Given the description of an element on the screen output the (x, y) to click on. 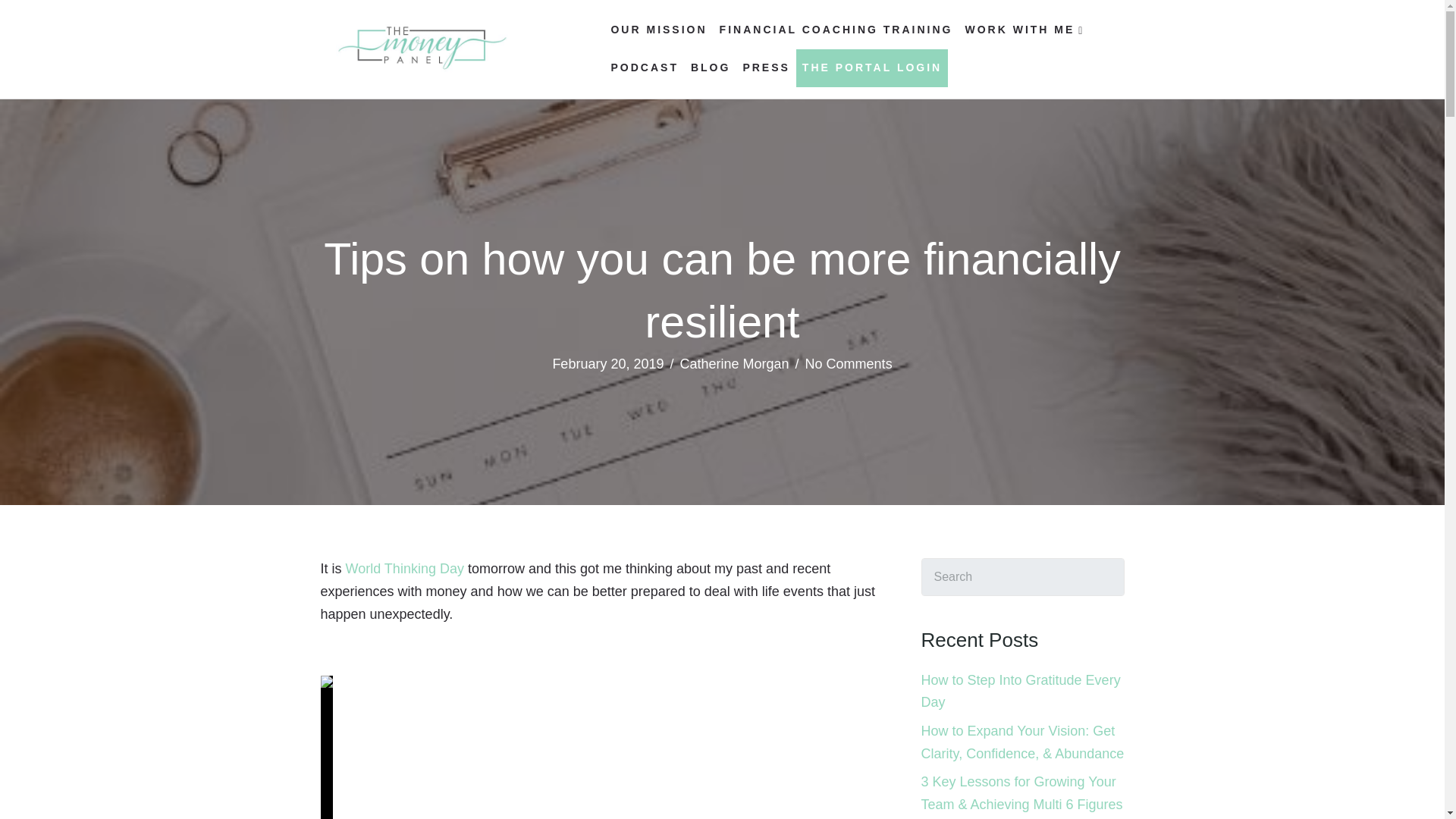
PODCAST (644, 67)
Catherine Morgan (734, 363)
BLOG (710, 67)
WORK WITH ME (1024, 30)
THE PORTAL LOGIN (871, 67)
World Thinking Day (405, 568)
PRESS (765, 67)
OUR MISSION (658, 30)
Type and press Enter to search. (1022, 576)
FINANCIAL COACHING TRAINING (836, 30)
